Given the description of an element on the screen output the (x, y) to click on. 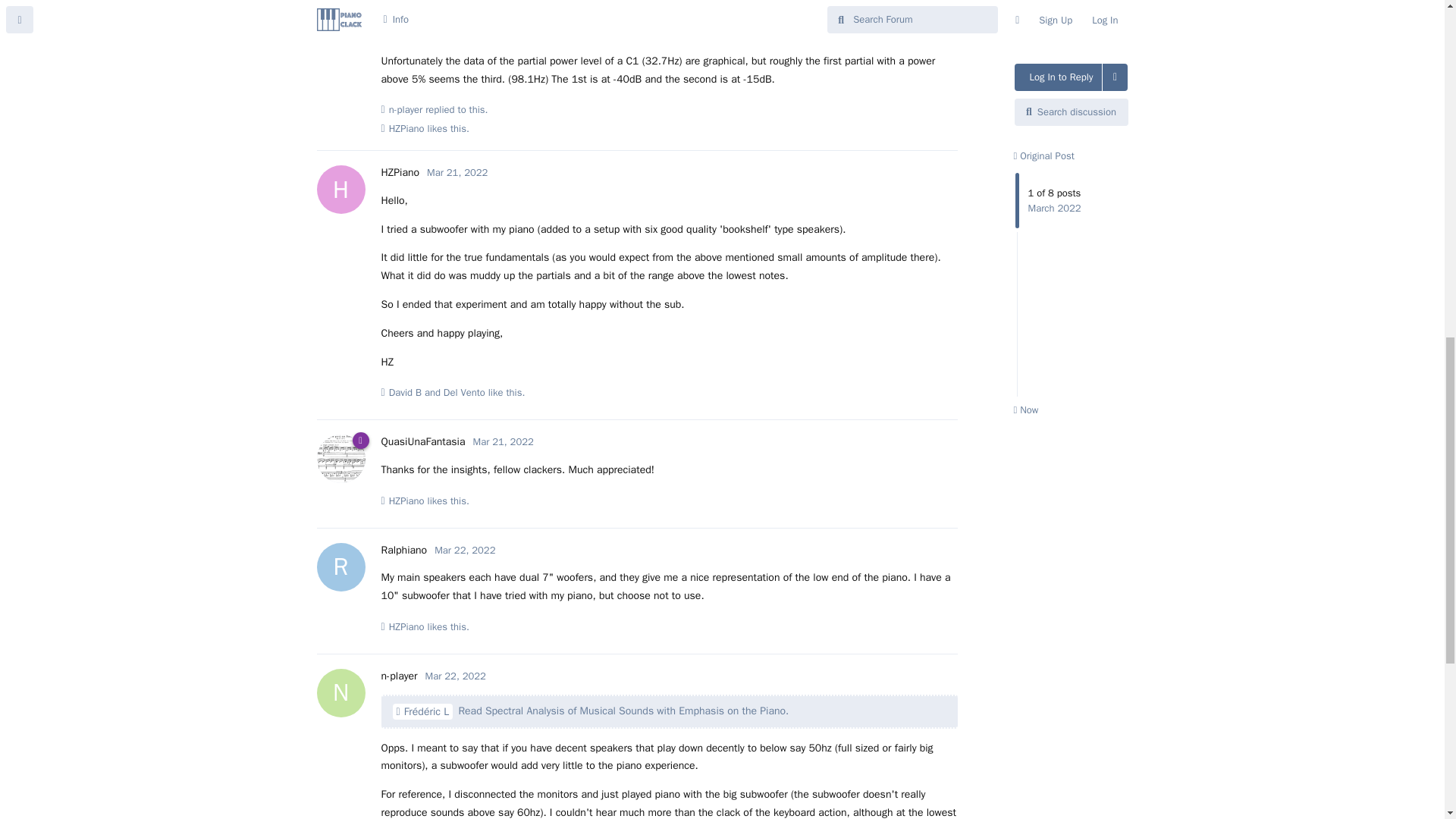
Monday, March 21, 2022 4:09 PM (503, 440)
HZPiano (406, 128)
Monday, March 21, 2022 2:07 PM (456, 172)
Tuesday, March 22, 2022 1:28 AM (464, 549)
n-player (405, 109)
Tuesday, March 22, 2022 2:17 AM (455, 675)
n-player (418, 2)
